Given the description of an element on the screen output the (x, y) to click on. 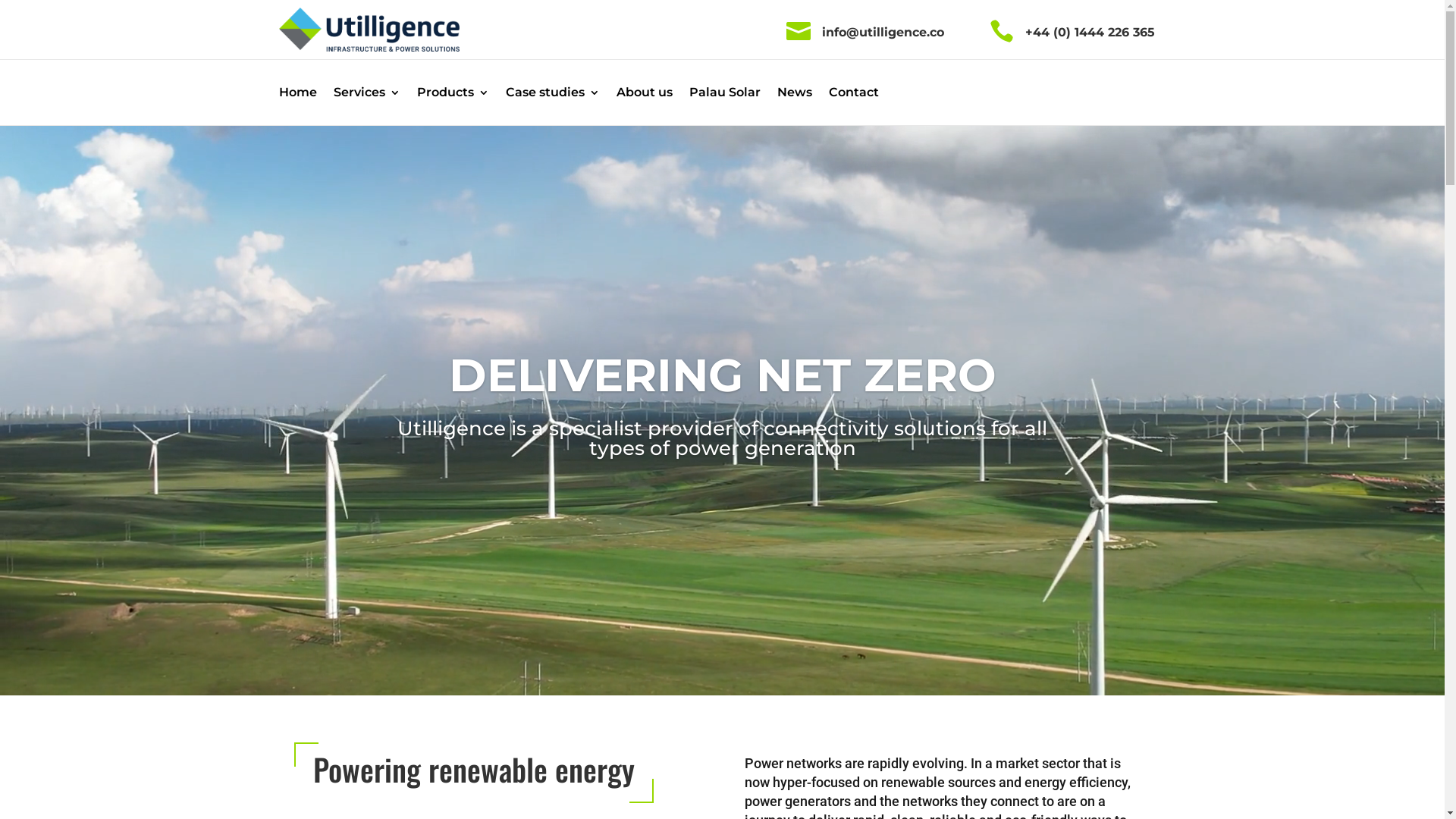
About us Element type: text (643, 95)
Services Element type: text (366, 95)
News Element type: text (793, 95)
info@utilligence.co Element type: text (883, 32)
Case studies Element type: text (552, 95)
Contact Element type: text (853, 95)
Palau Solar Element type: text (723, 95)
Products Element type: text (453, 95)
Utilligence Logo RGB Element type: hover (369, 29)
Home Element type: text (297, 95)
